Given the description of an element on the screen output the (x, y) to click on. 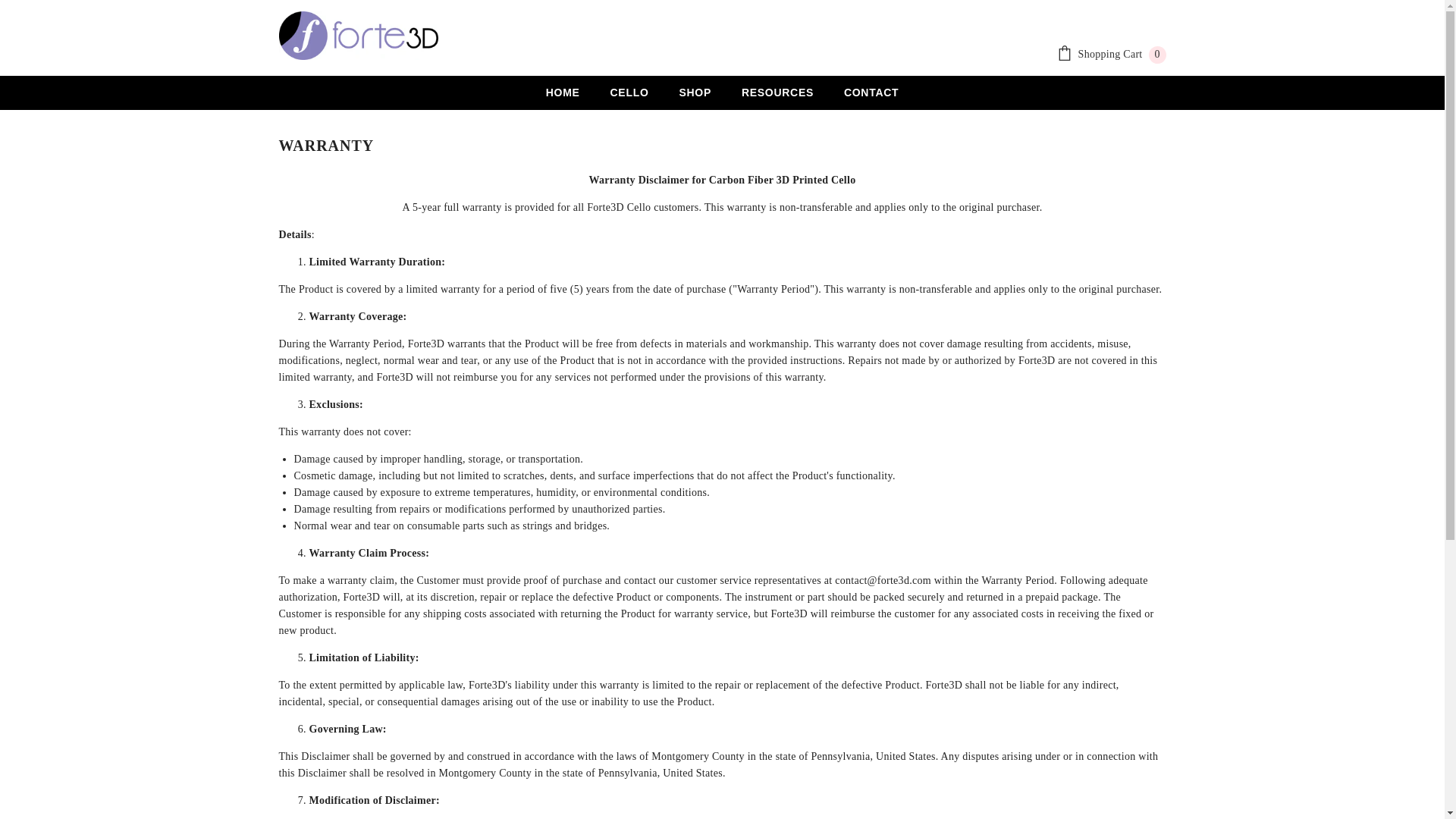
RESOURCES (777, 103)
HOME (563, 106)
SHOP (694, 104)
CELLO (629, 105)
CONTACT (1111, 54)
